Given the description of an element on the screen output the (x, y) to click on. 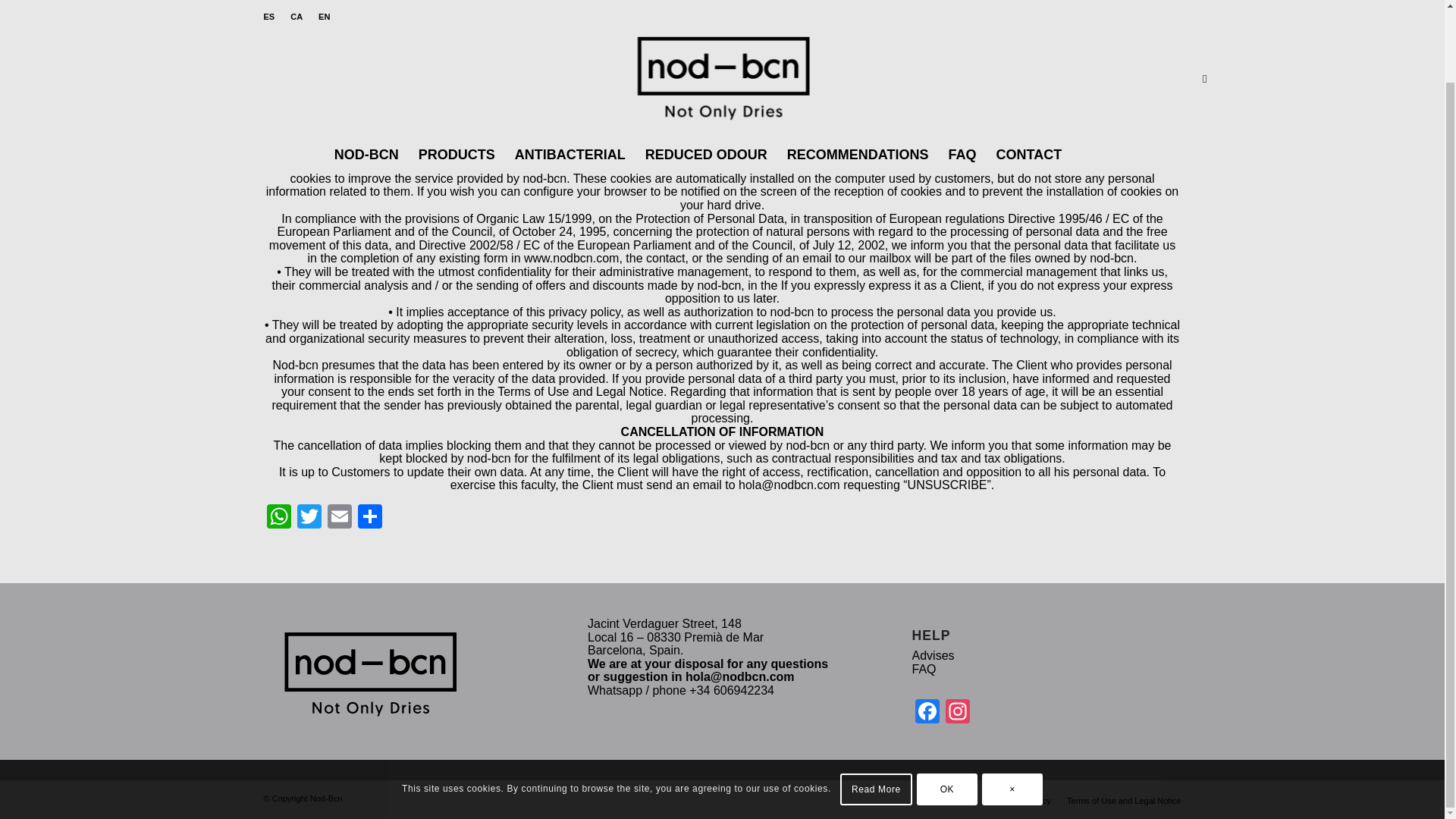
Facebook (927, 713)
Share (370, 518)
OK (946, 708)
Advises (933, 655)
Email (339, 518)
RECOMMENDATIONS (858, 74)
NOD-BCN (366, 74)
CONTACT (1029, 74)
Terms of Use and Legal Notice (1123, 800)
Twitter (309, 518)
ANTIBACTERIAL (569, 74)
FAQ (924, 668)
Facebook (927, 713)
Instagram (957, 713)
Read More (876, 708)
